Given the description of an element on the screen output the (x, y) to click on. 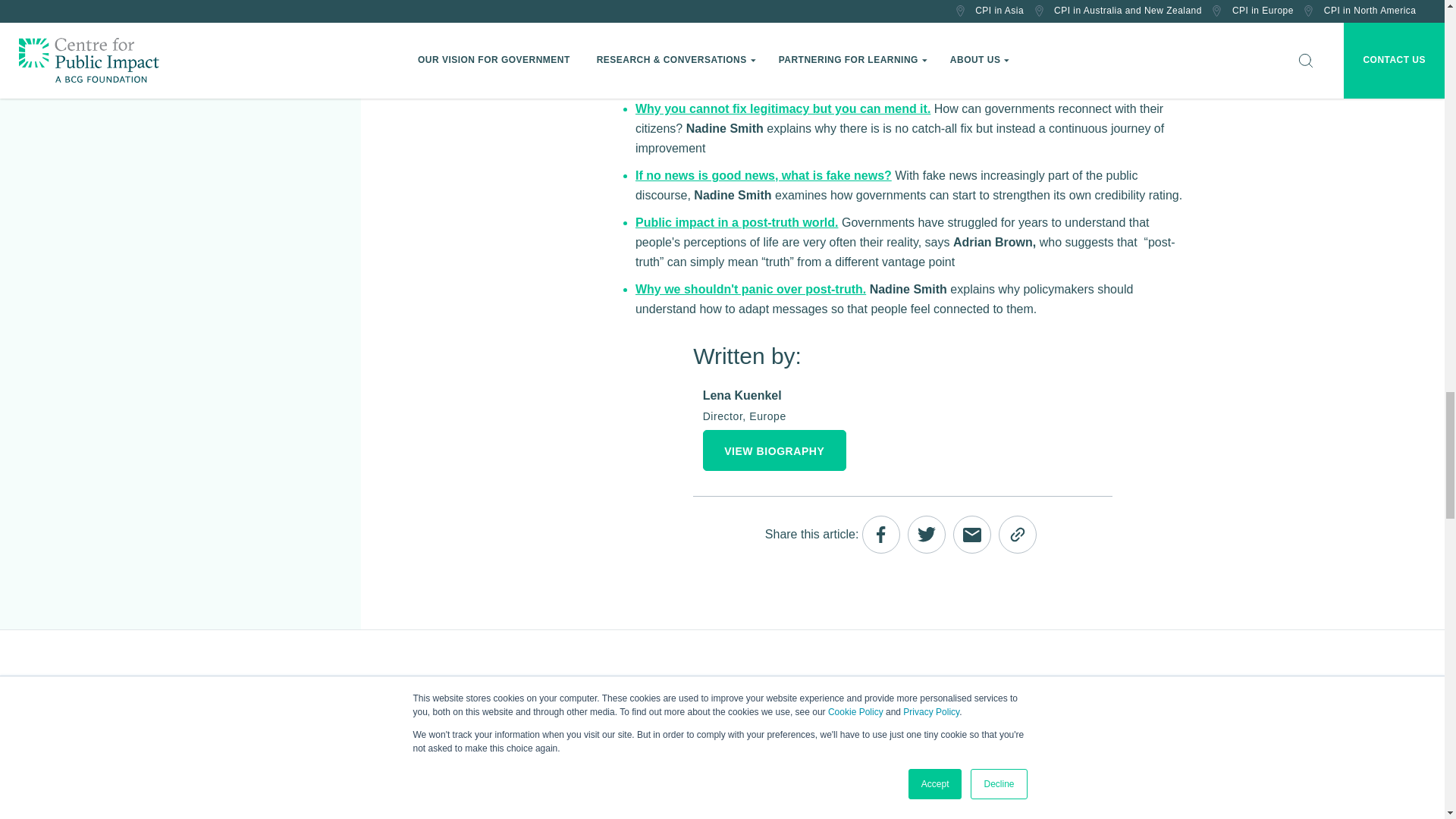
Twitter (925, 534)
Mail (972, 534)
Copy Link (1017, 534)
Facebook (880, 534)
